Given the description of an element on the screen output the (x, y) to click on. 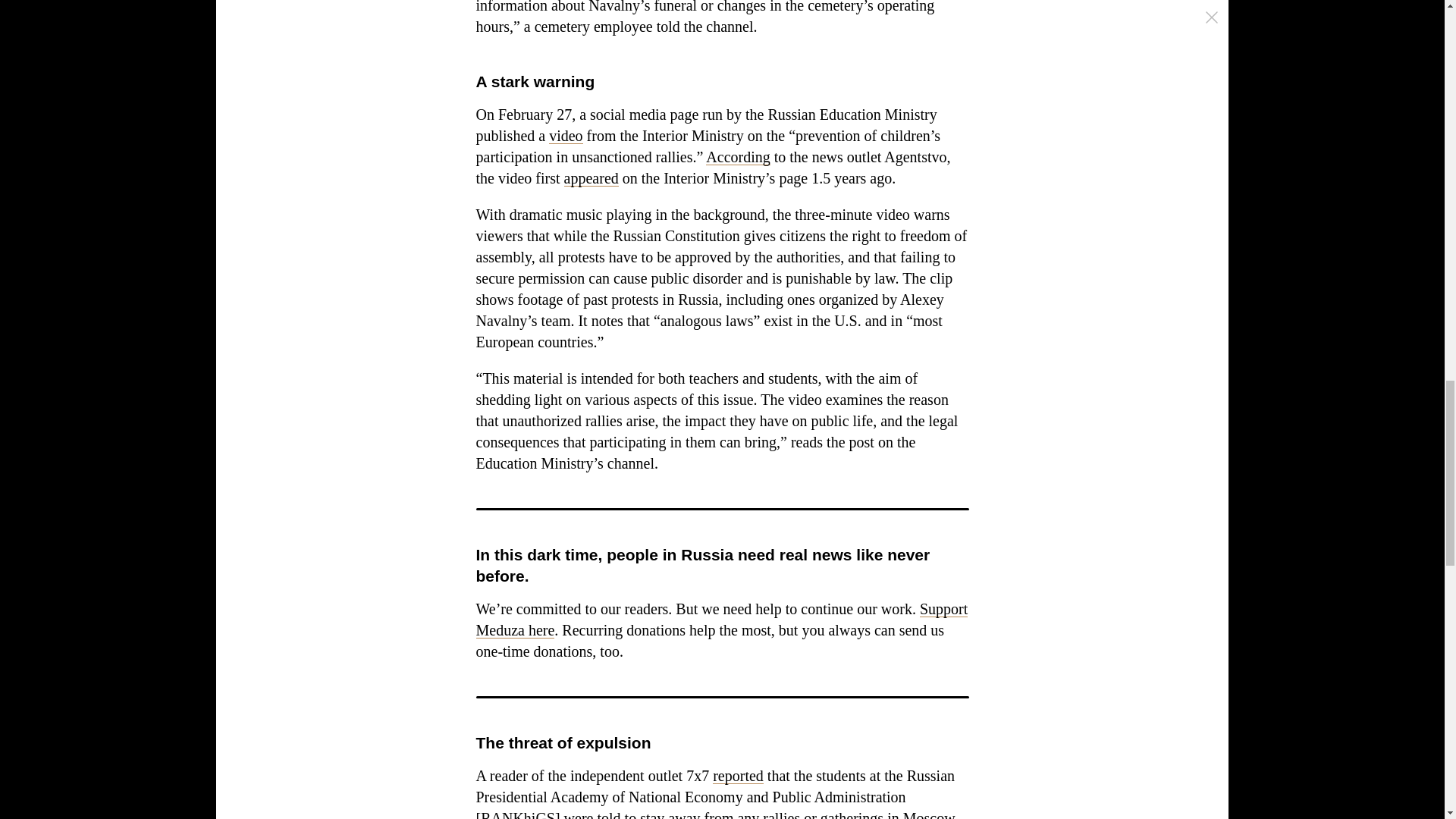
Support Meduza here (722, 619)
reported (737, 775)
appeared (591, 177)
video (565, 135)
According (738, 156)
